Given the description of an element on the screen output the (x, y) to click on. 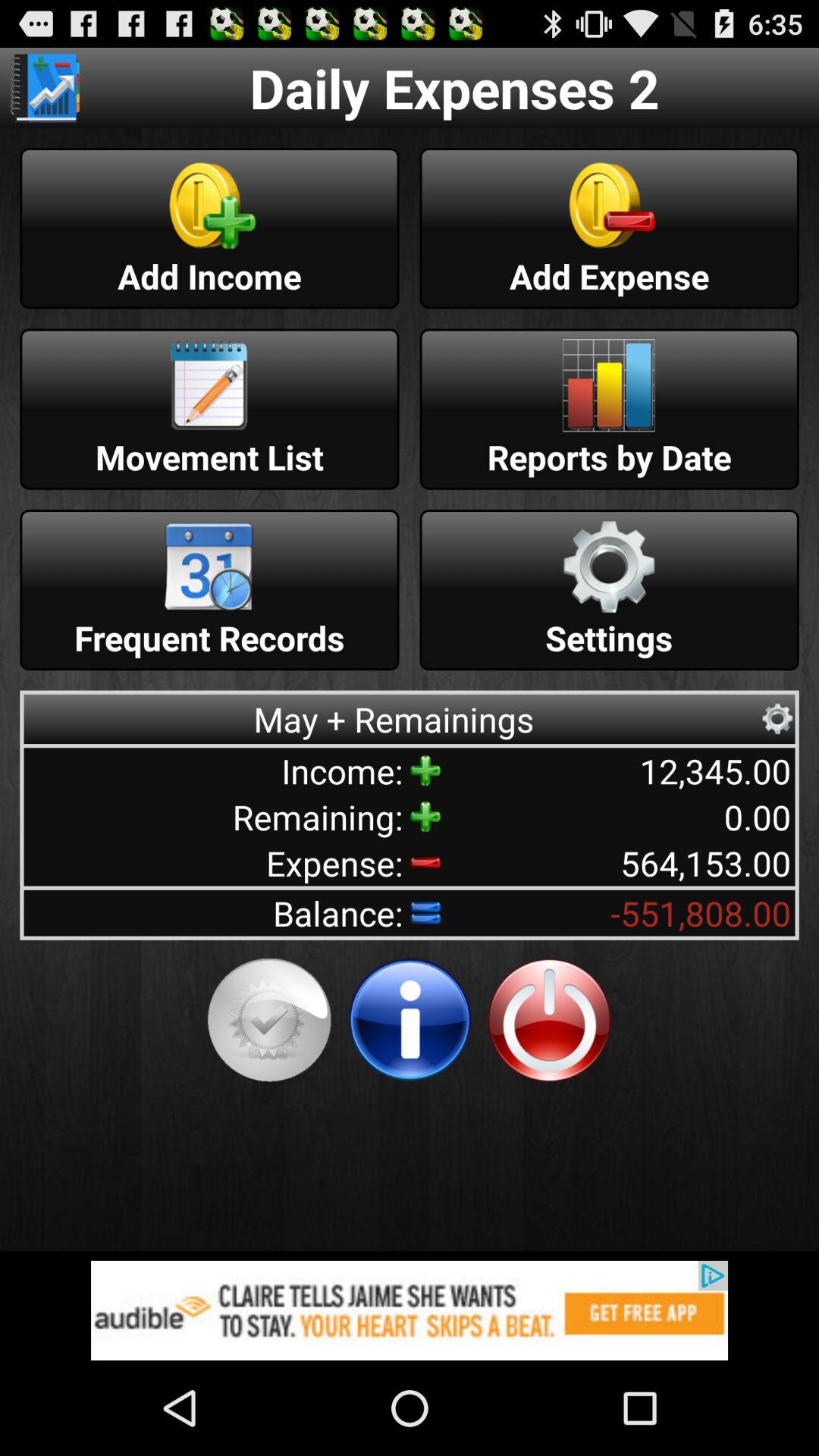
open advertisement page (409, 1310)
